Given the description of an element on the screen output the (x, y) to click on. 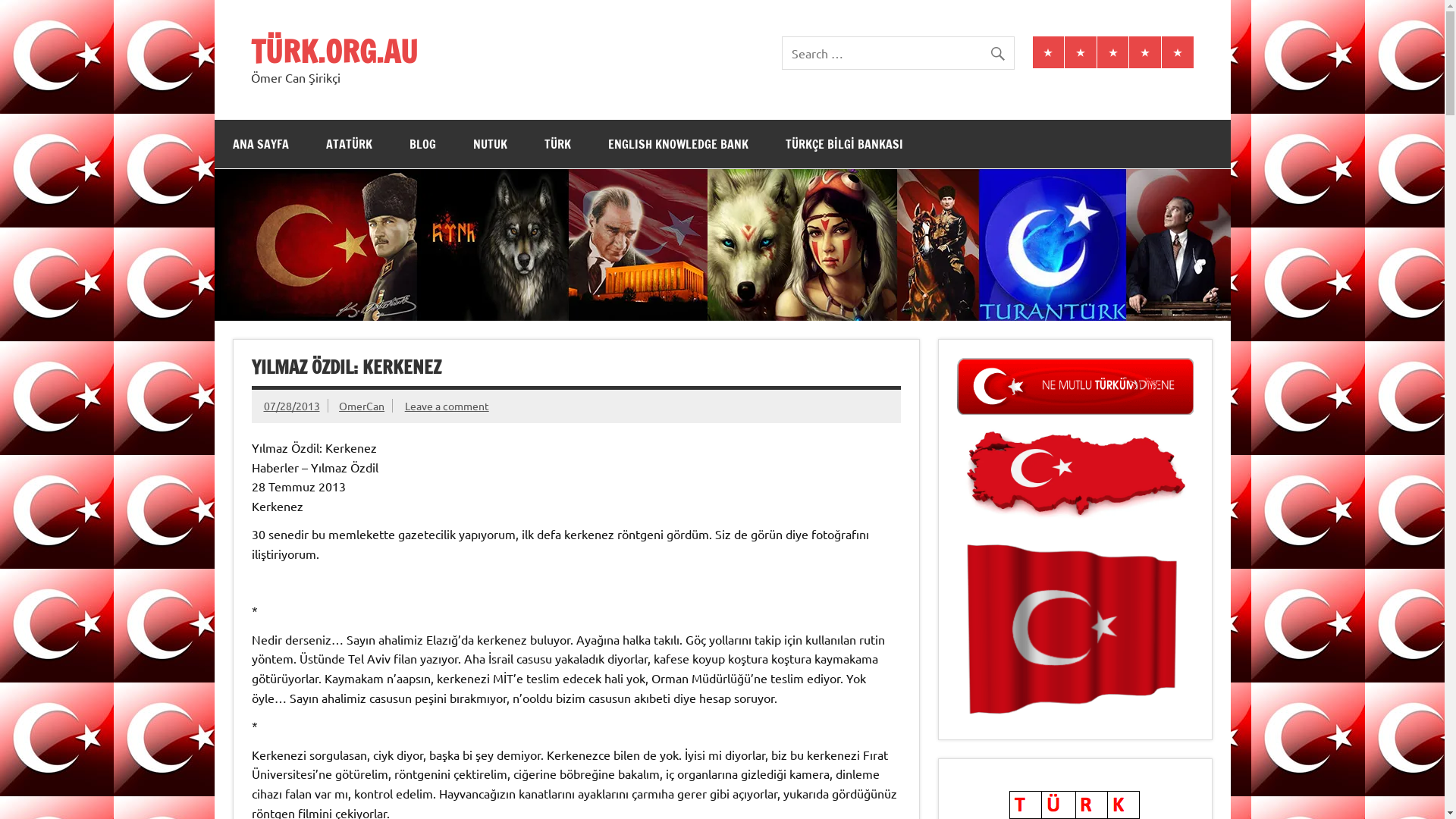
ANA SAYFA Element type: text (259, 143)
OmerCan Element type: text (361, 405)
ENGLISH KNOWLEDGE BANK Element type: text (677, 143)
Leave a comment Element type: text (446, 405)
07/28/2013 Element type: text (291, 405)
NUTUK Element type: text (490, 143)
BLOG Element type: text (422, 143)
